Given the description of an element on the screen output the (x, y) to click on. 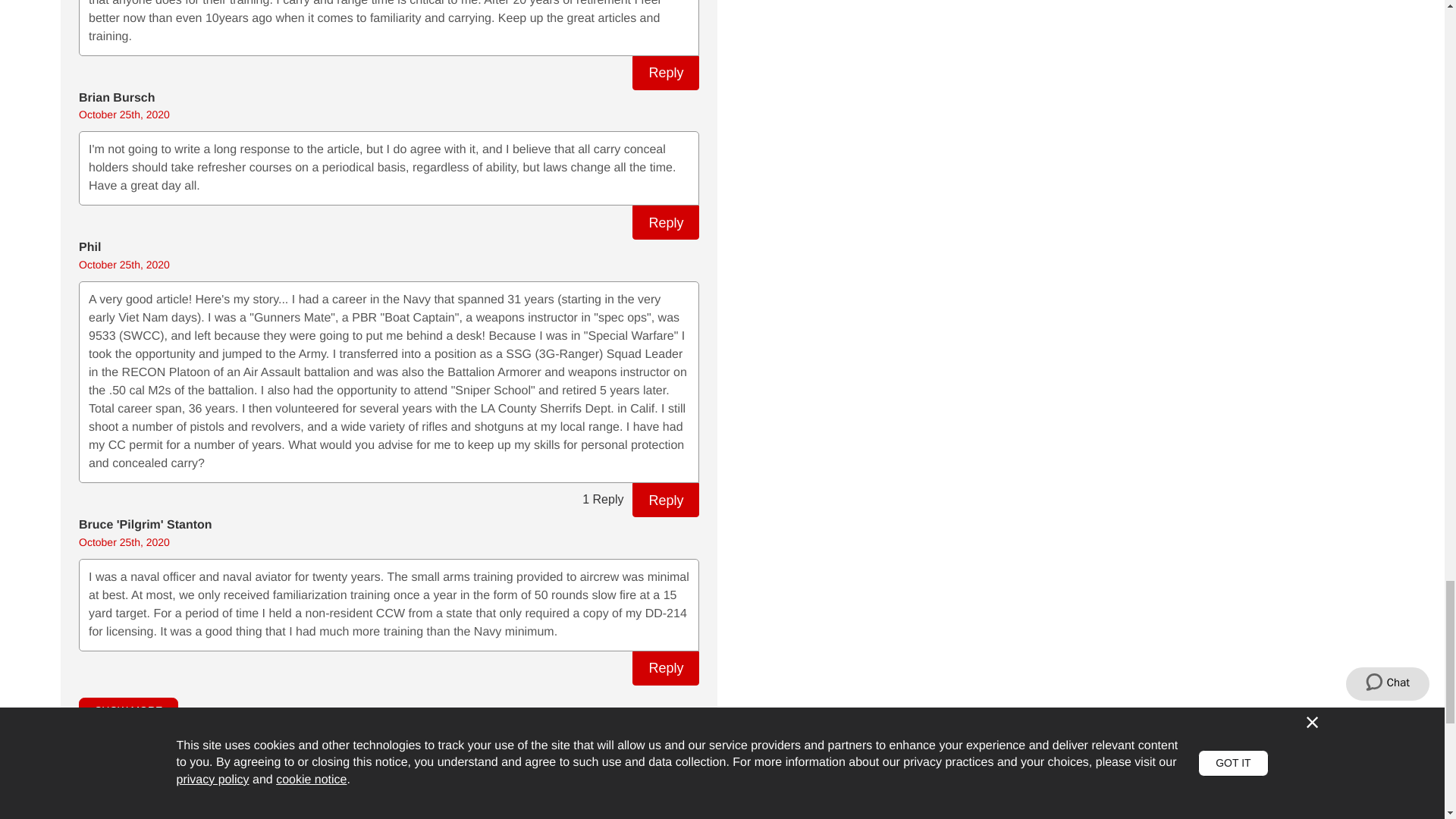
Reply (664, 499)
Reply (664, 73)
Reply (664, 222)
SHOW MORE (127, 710)
Reply (664, 668)
1 Reply (602, 499)
